Given the description of an element on the screen output the (x, y) to click on. 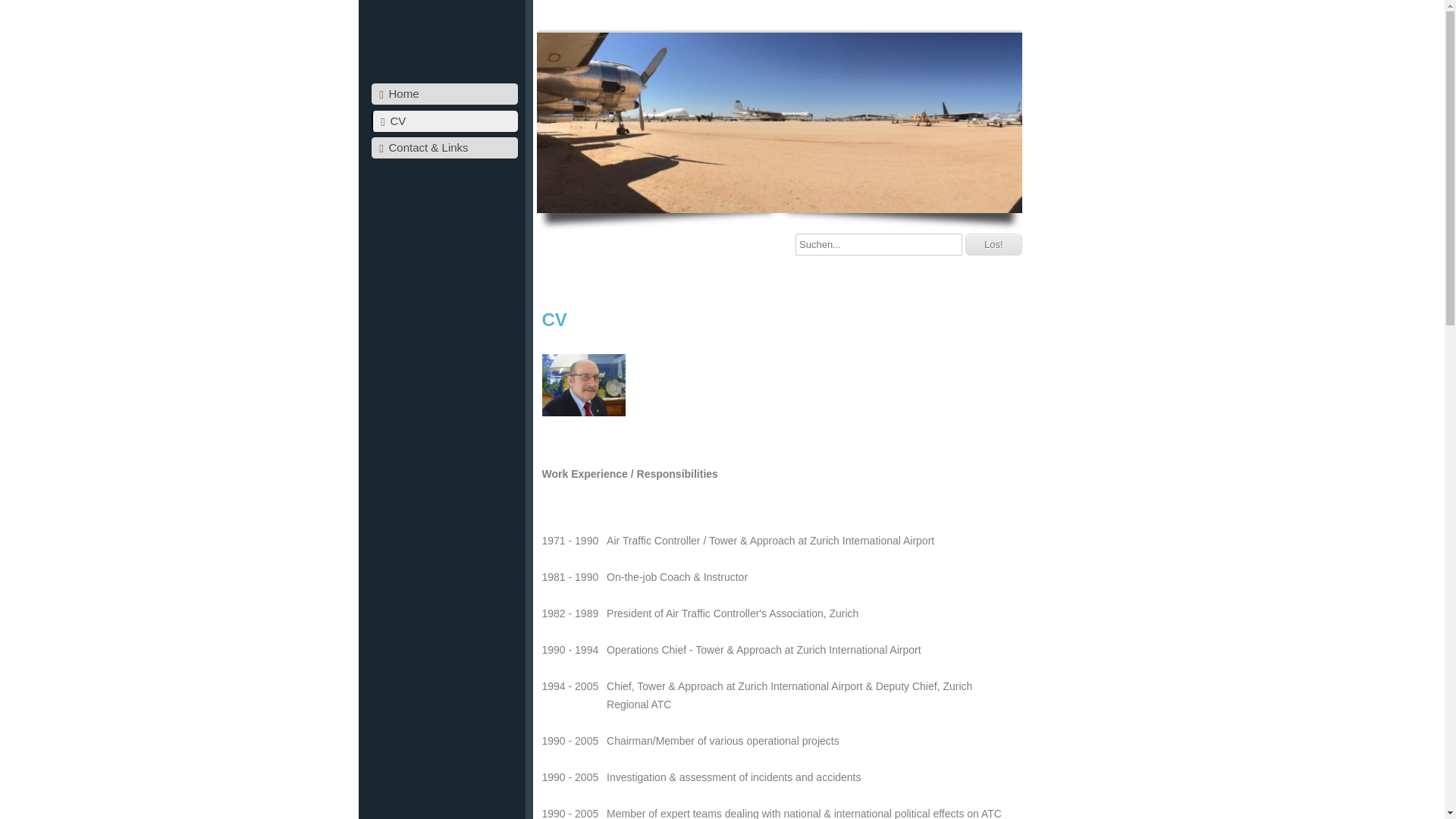
CV Element type: text (444, 120)
Los! Element type: text (993, 244)
Contact & Links Element type: text (444, 147)
Home Element type: text (444, 93)
